Given the description of an element on the screen output the (x, y) to click on. 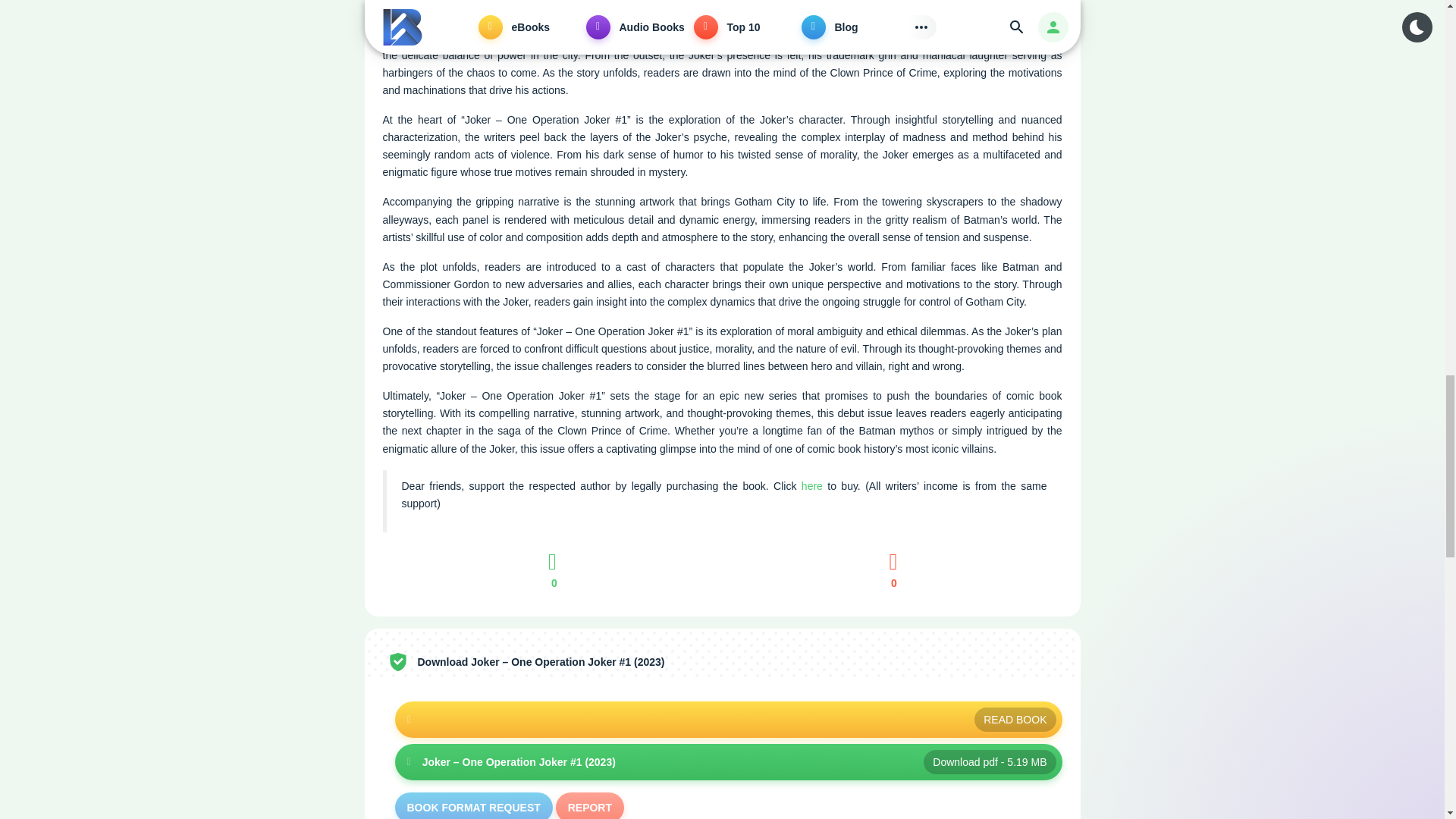
BOOK FORMAT REQUEST (472, 805)
REPORT (590, 805)
here (812, 485)
READ BOOK (727, 719)
